Given the description of an element on the screen output the (x, y) to click on. 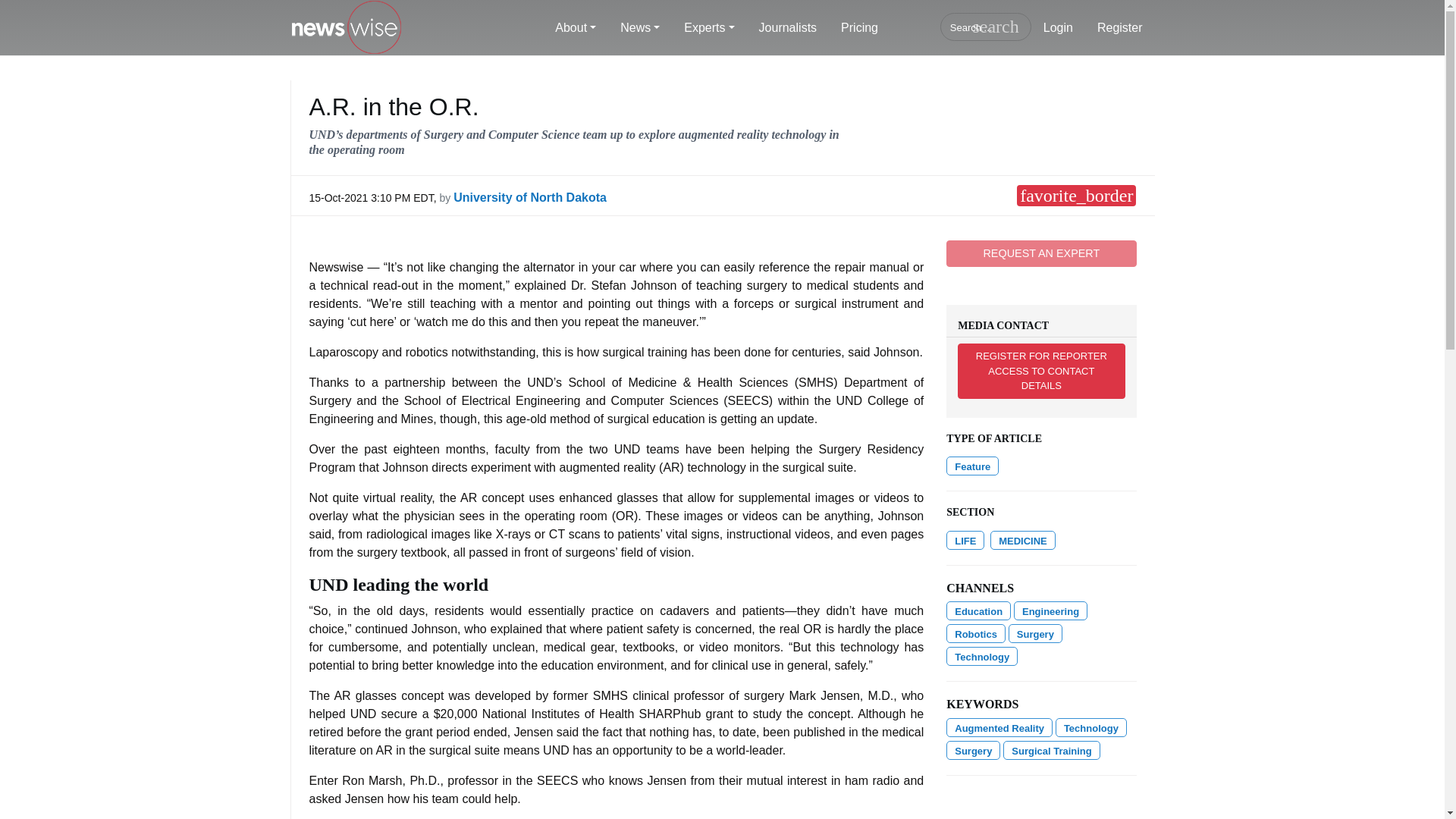
Show all articles in this channel (978, 610)
About (575, 27)
Show all articles in this channel (965, 539)
Newswise logo (345, 28)
Add to Favorites (1075, 195)
Show all articles in this channel (1050, 610)
Feature (972, 465)
Show all articles in this channel (1022, 539)
News (639, 27)
